Given the description of an element on the screen output the (x, y) to click on. 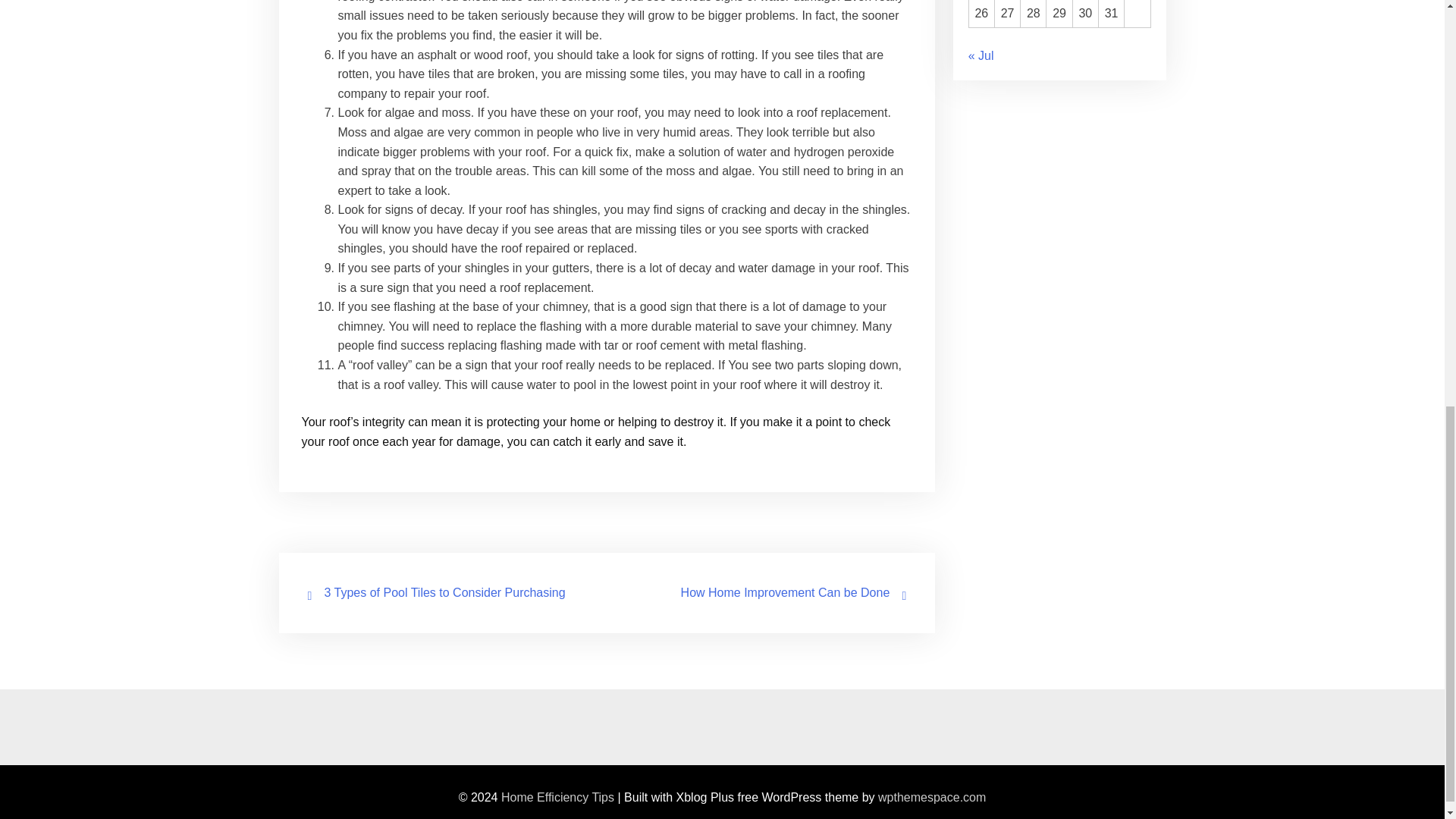
How Home Improvement Can be Done (785, 592)
wpthemespace.com (931, 797)
Home Efficiency Tips (557, 797)
3 Types of Pool Tiles to Consider Purchasing (445, 592)
